Given the description of an element on the screen output the (x, y) to click on. 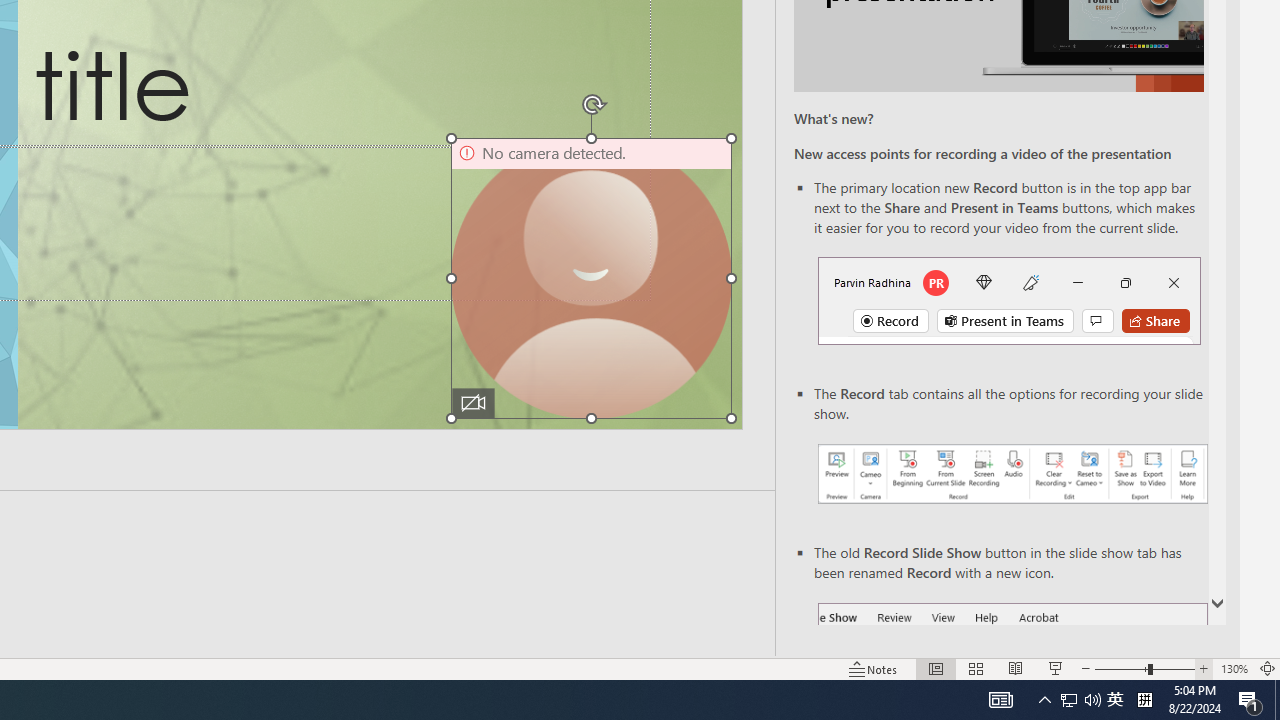
Zoom 130% (1234, 668)
Record your presentations screenshot one (1012, 473)
Camera 9, No camera detected. (591, 277)
Record button in top bar (1008, 300)
